Given the description of an element on the screen output the (x, y) to click on. 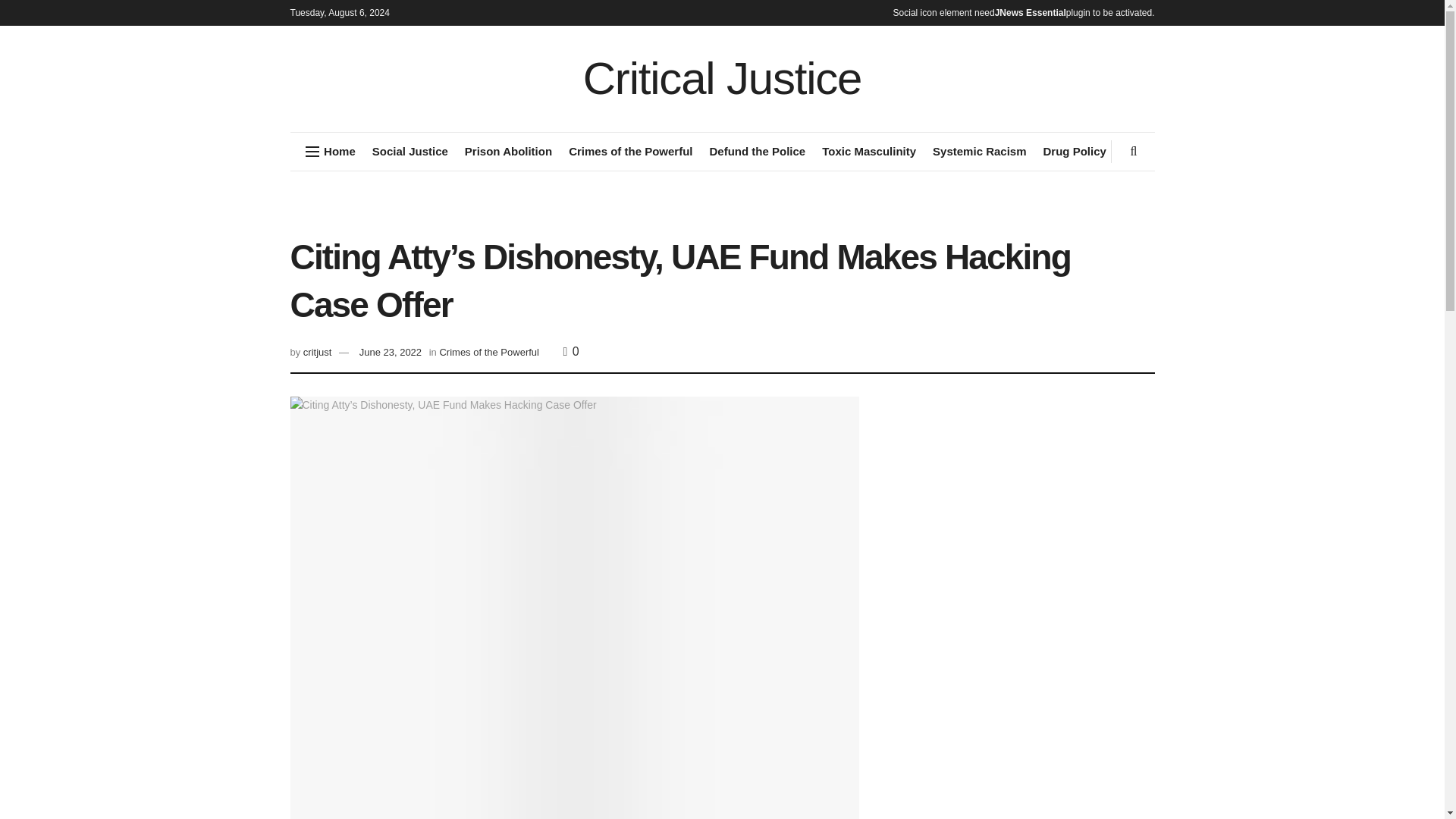
Systemic Racism (979, 151)
Defund the Police (757, 151)
Toxic Masculinity (868, 151)
Social Justice (410, 151)
June 23, 2022 (390, 351)
Crimes of the Powerful (631, 151)
Critical Justice (722, 78)
0 (571, 350)
critjust (316, 351)
Prison Abolition (507, 151)
Drug Policy (1074, 151)
Crimes of the Powerful (488, 351)
